Given the description of an element on the screen output the (x, y) to click on. 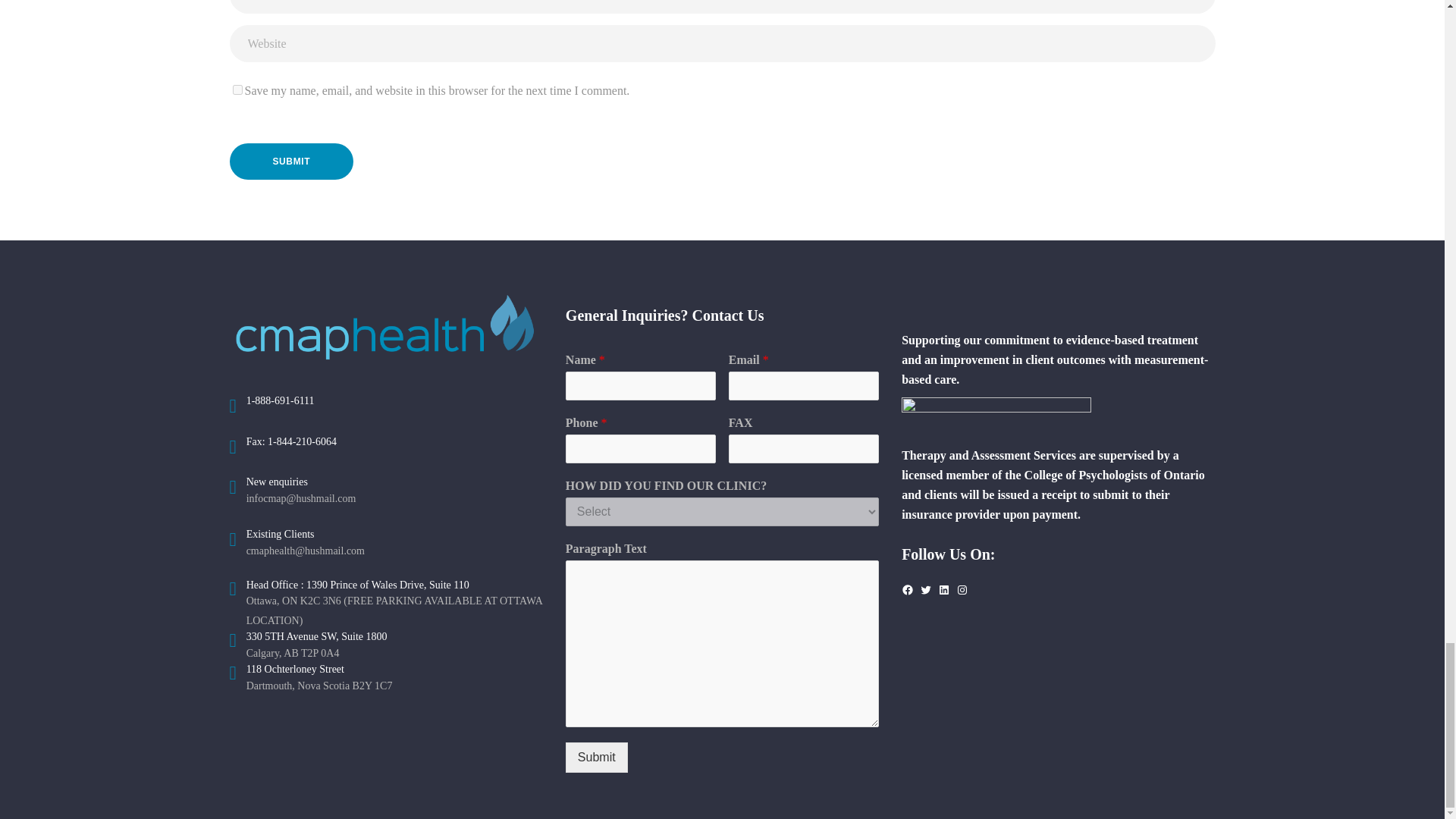
Submit (290, 161)
yes (236, 90)
